Given the description of an element on the screen output the (x, y) to click on. 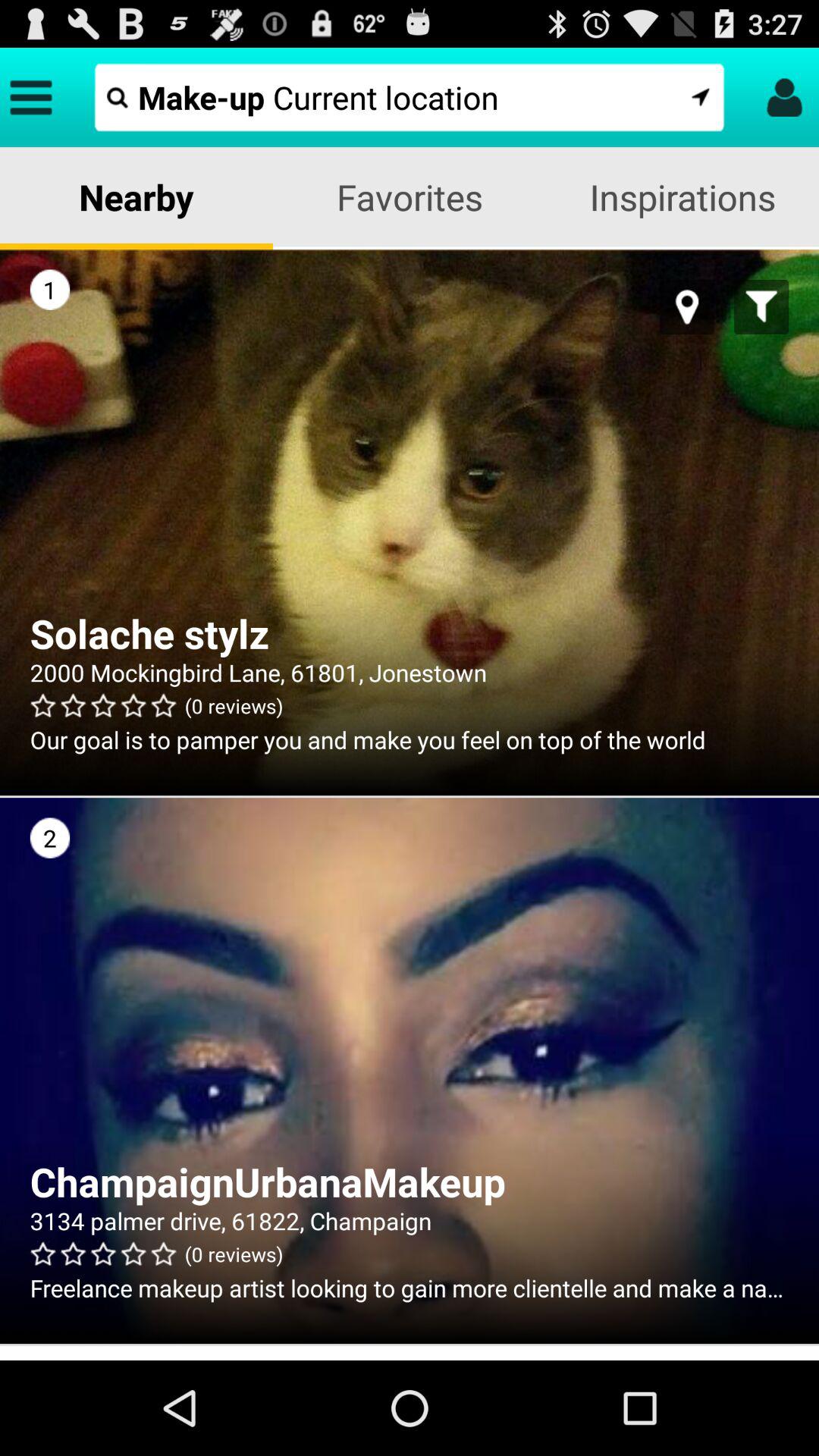
flip until 2000 mockingbird lane item (409, 672)
